Given the description of an element on the screen output the (x, y) to click on. 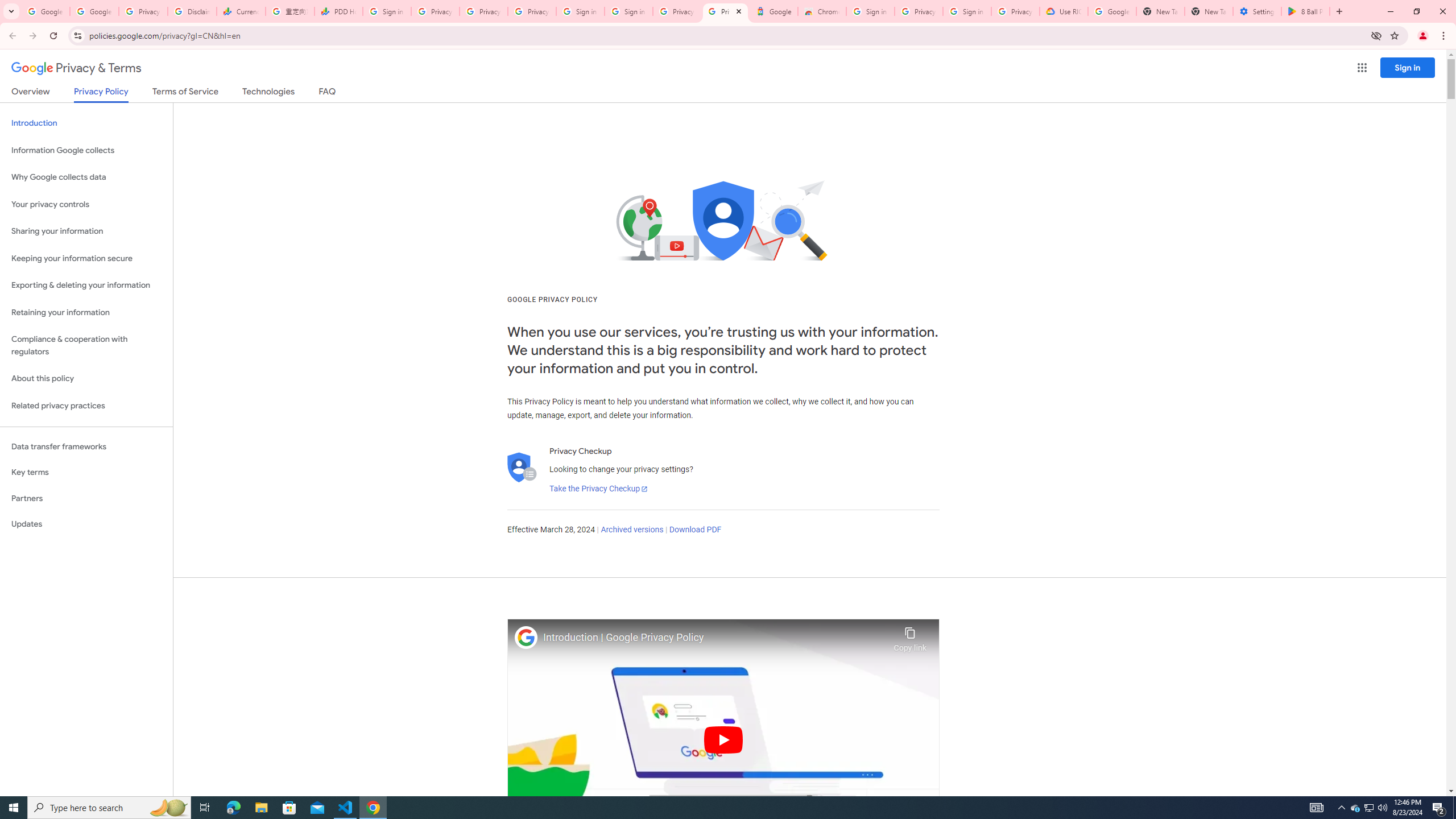
Introduction | Google Privacy Policy (715, 637)
Take the Privacy Checkup (597, 488)
Sign in - Google Accounts (966, 11)
Sign in - Google Accounts (580, 11)
